Given the description of an element on the screen output the (x, y) to click on. 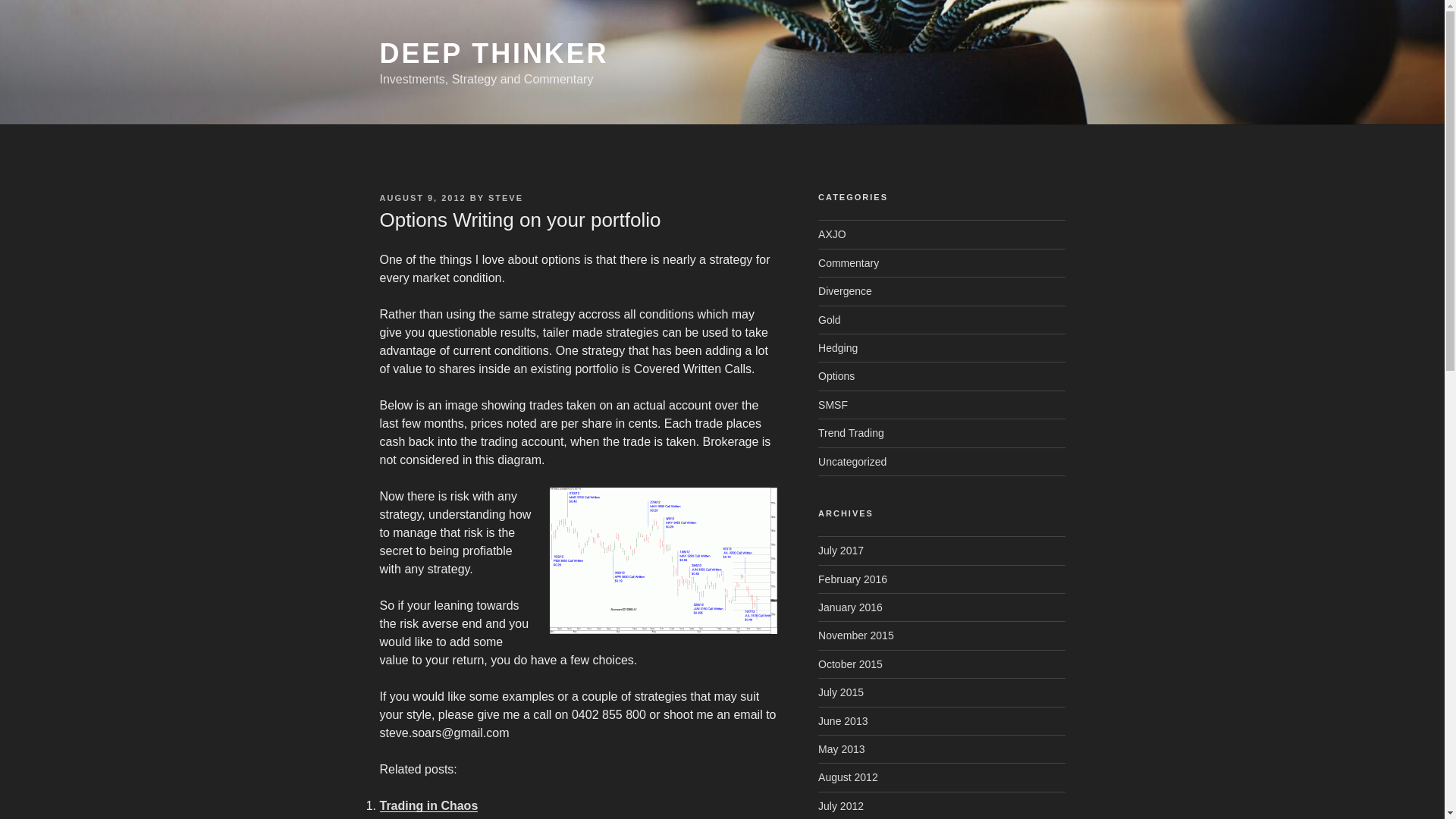
Trading in Chaos (427, 805)
July 2017 (840, 550)
July 2012 (840, 806)
November 2015 (855, 635)
Commentary (848, 263)
October 2015 (850, 664)
Divergence (845, 291)
Trading in Chaos (427, 805)
Averaging Down (426, 818)
AXJO (831, 234)
Uncategorized (852, 461)
Averaging Down (426, 818)
bhp-written options feb-jul12 (663, 560)
August 2012 (847, 776)
January 2016 (850, 607)
